Given the description of an element on the screen output the (x, y) to click on. 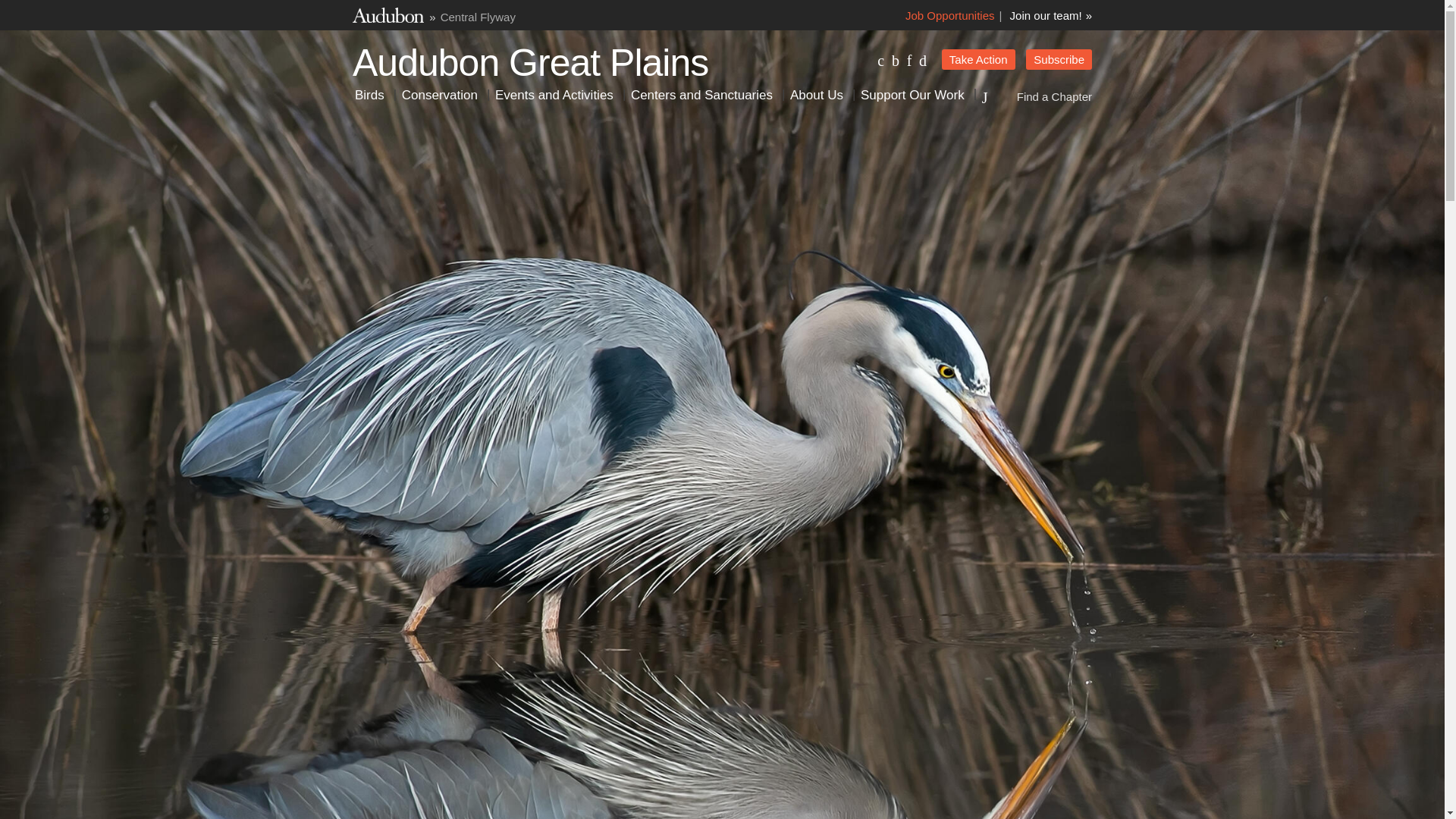
Centers and Sanctuaries (701, 95)
Birds (369, 95)
Subscribe (1059, 59)
Audubon Great Plains (529, 59)
Conservation (439, 95)
Join our team! (1051, 15)
About Us (816, 95)
Take Action (978, 59)
Events and Activities (554, 95)
Central Flyway (478, 16)
